Given the description of an element on the screen output the (x, y) to click on. 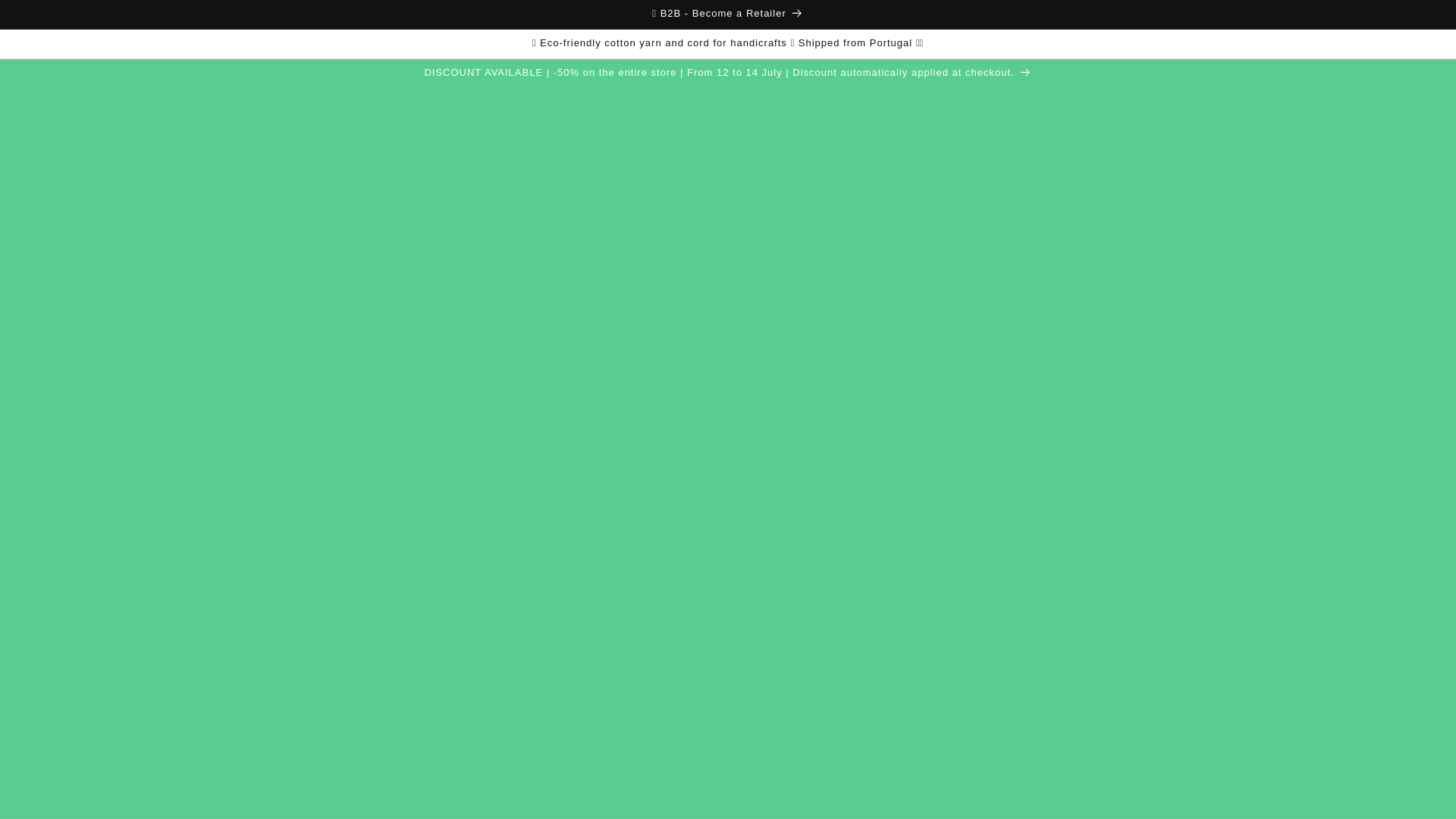
Ir directamente al contenido (45, 17)
